Given the description of an element on the screen output the (x, y) to click on. 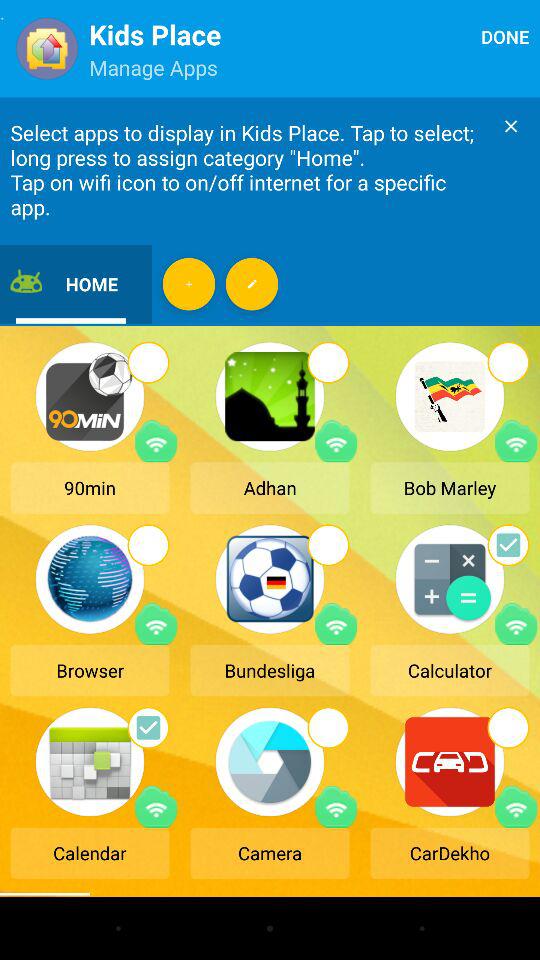
wifi button (336, 806)
